Given the description of an element on the screen output the (x, y) to click on. 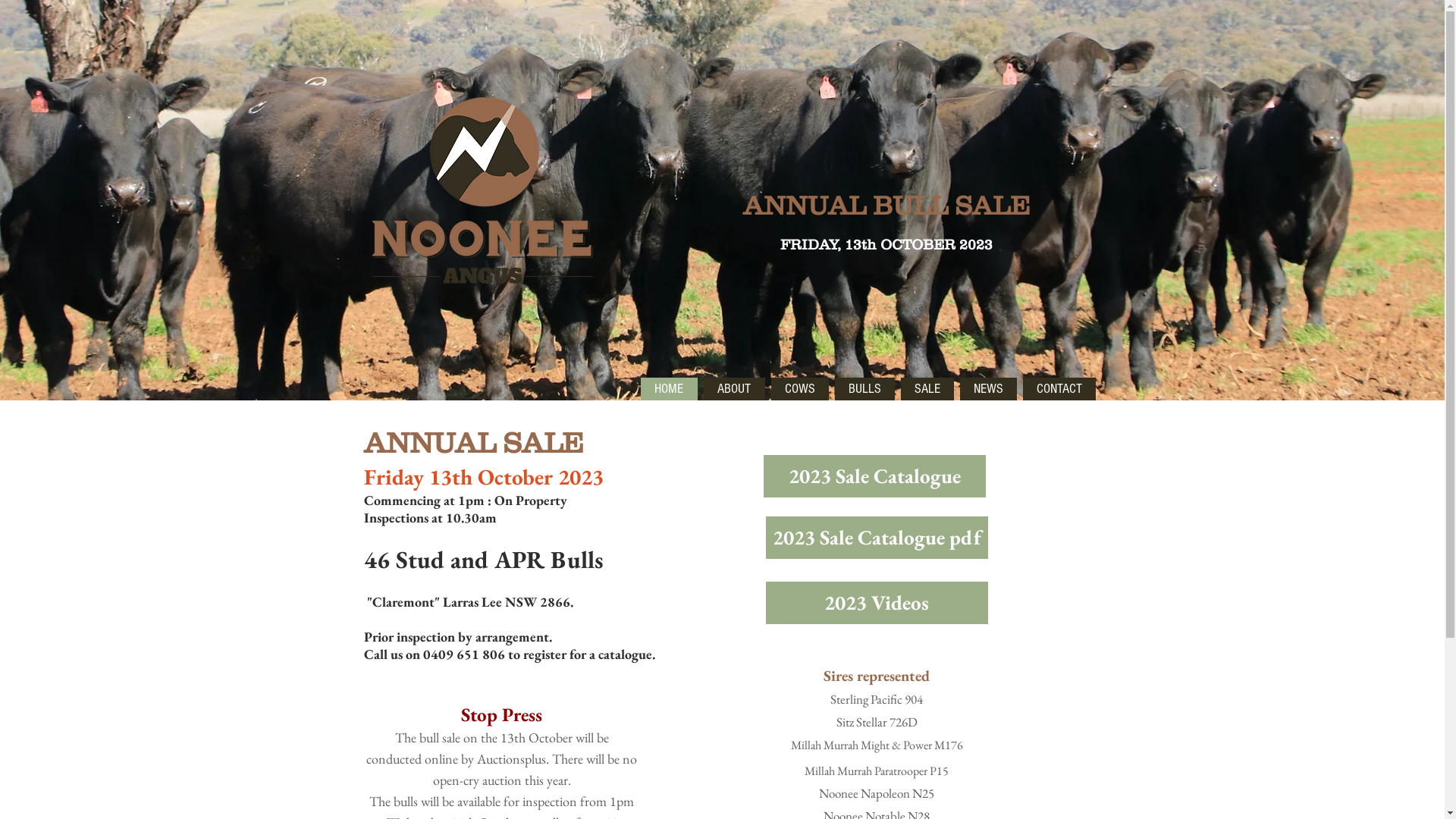
COWS Element type: text (799, 388)
2023 Sale Catalogue Element type: text (873, 476)
CONTACT Element type: text (1058, 388)
SALE Element type: text (926, 388)
2023 Sale Catalogue pdf Element type: text (876, 537)
BULLS Element type: text (864, 388)
2023 Videos Element type: text (876, 602)
HOME Element type: text (668, 388)
NEWS Element type: text (988, 388)
ABOUT Element type: text (734, 388)
